Given the description of an element on the screen output the (x, y) to click on. 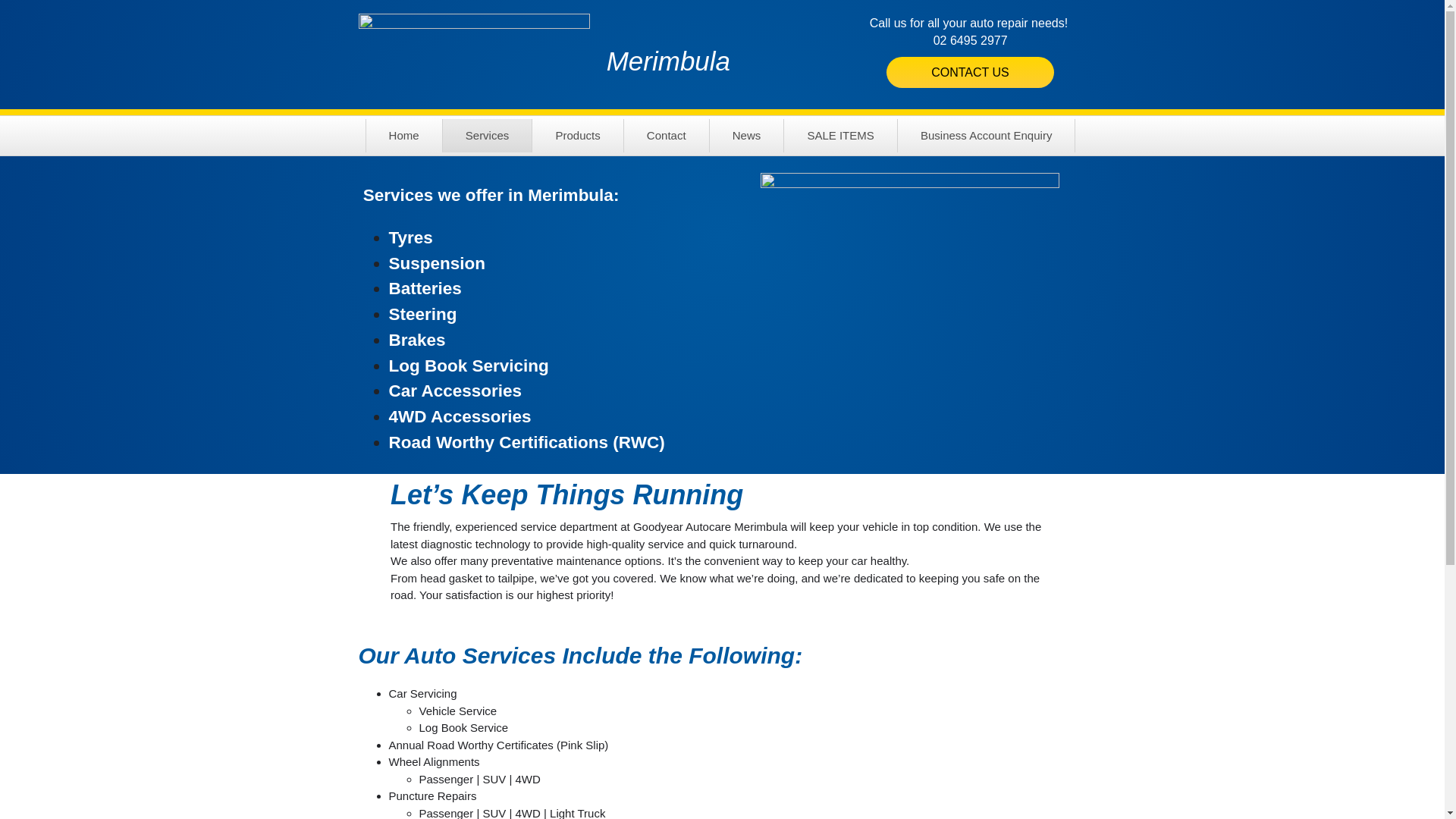
02 6495 2977 Element type: text (970, 39)
Home Element type: text (404, 135)
CONTACT US Element type: text (970, 71)
Business Account Enquiry Element type: text (985, 135)
SALE ITEMS Element type: text (839, 135)
Contact Element type: text (666, 135)
News Element type: text (746, 135)
Products Element type: text (577, 135)
Services Element type: text (487, 135)
